Given the description of an element on the screen output the (x, y) to click on. 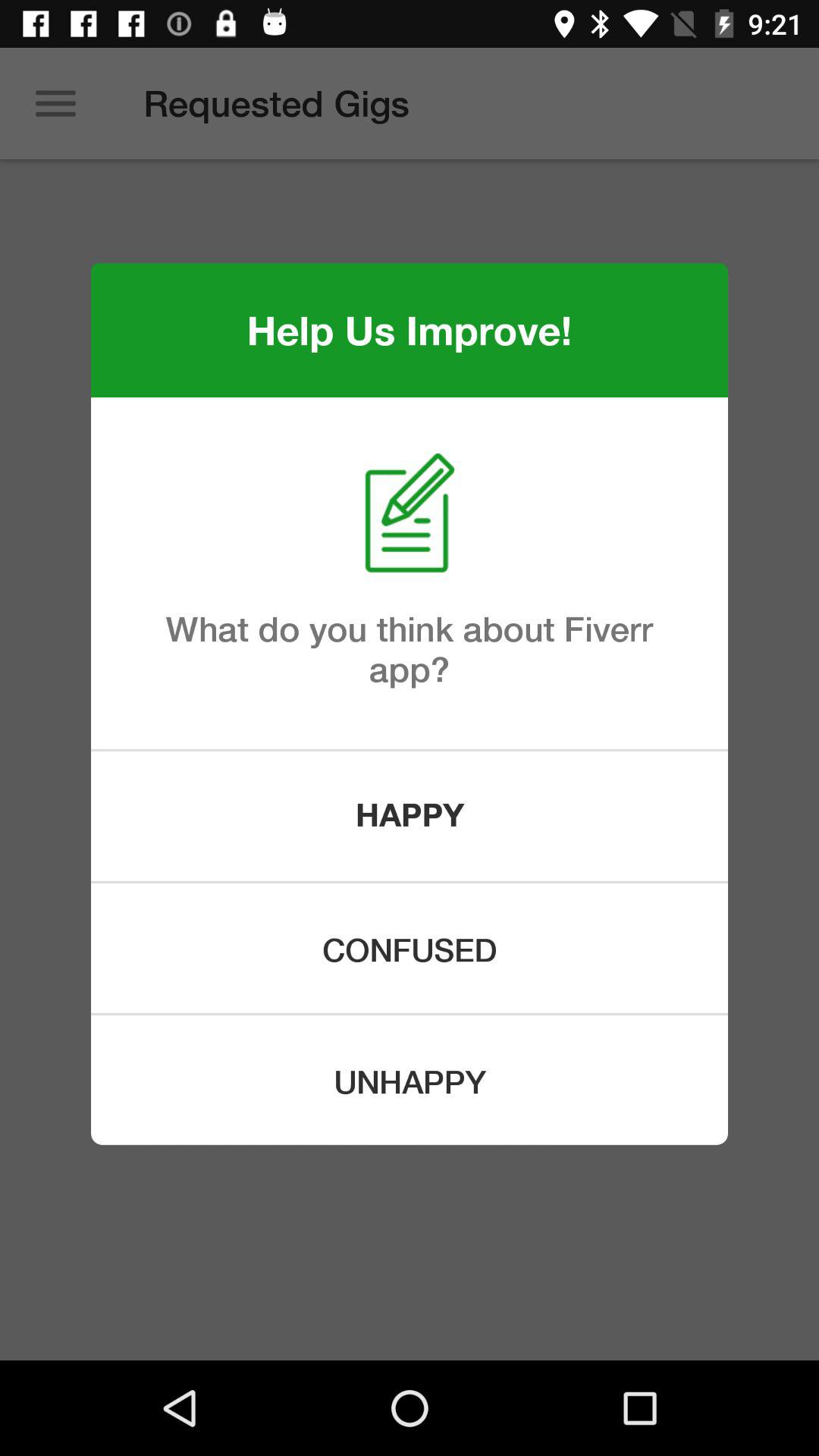
click the happy (409, 815)
